Given the description of an element on the screen output the (x, y) to click on. 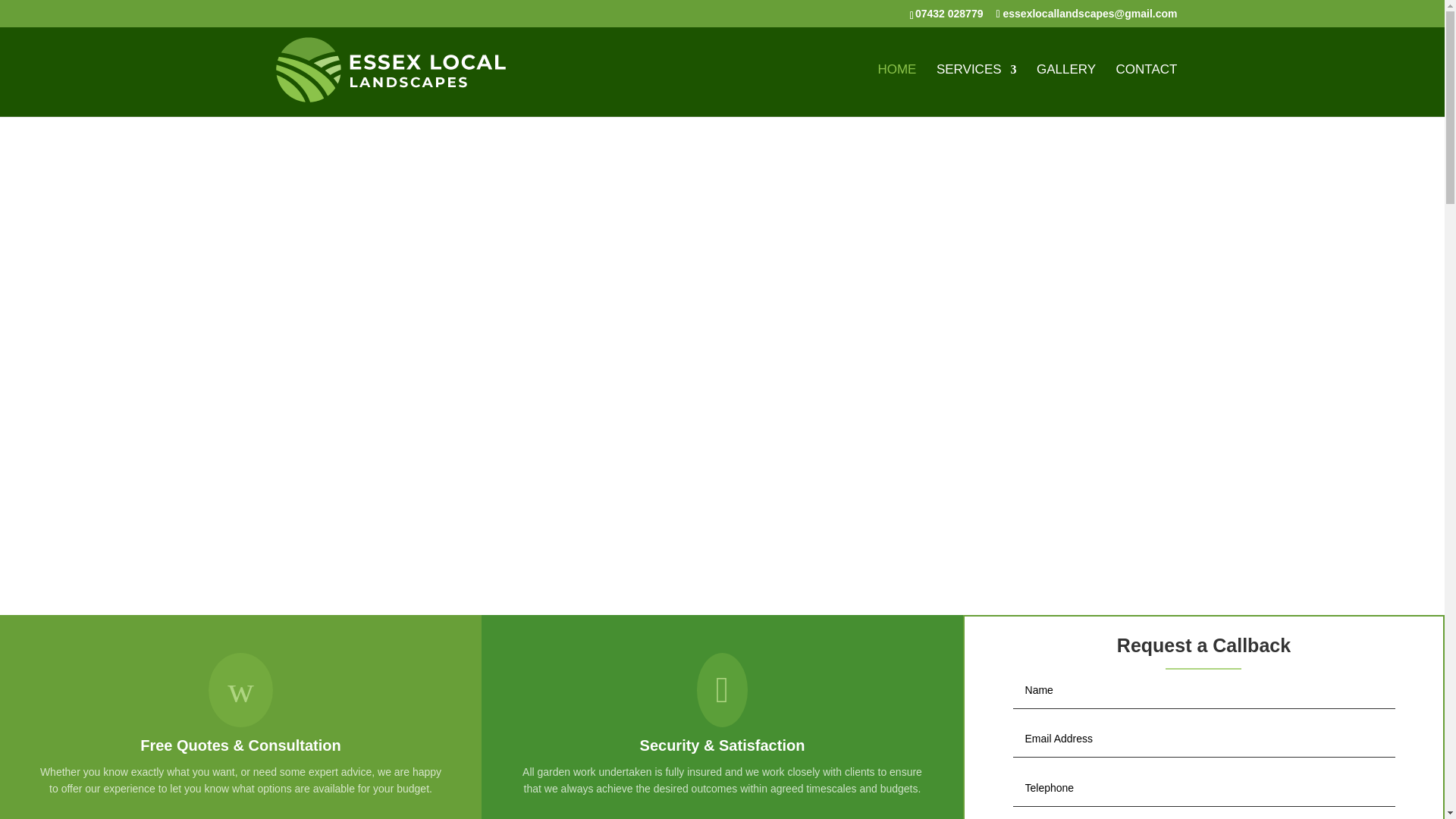
SERVICES (976, 90)
Contact (1146, 90)
GALLERY (1066, 90)
CONTACT (1146, 90)
